Given the description of an element on the screen output the (x, y) to click on. 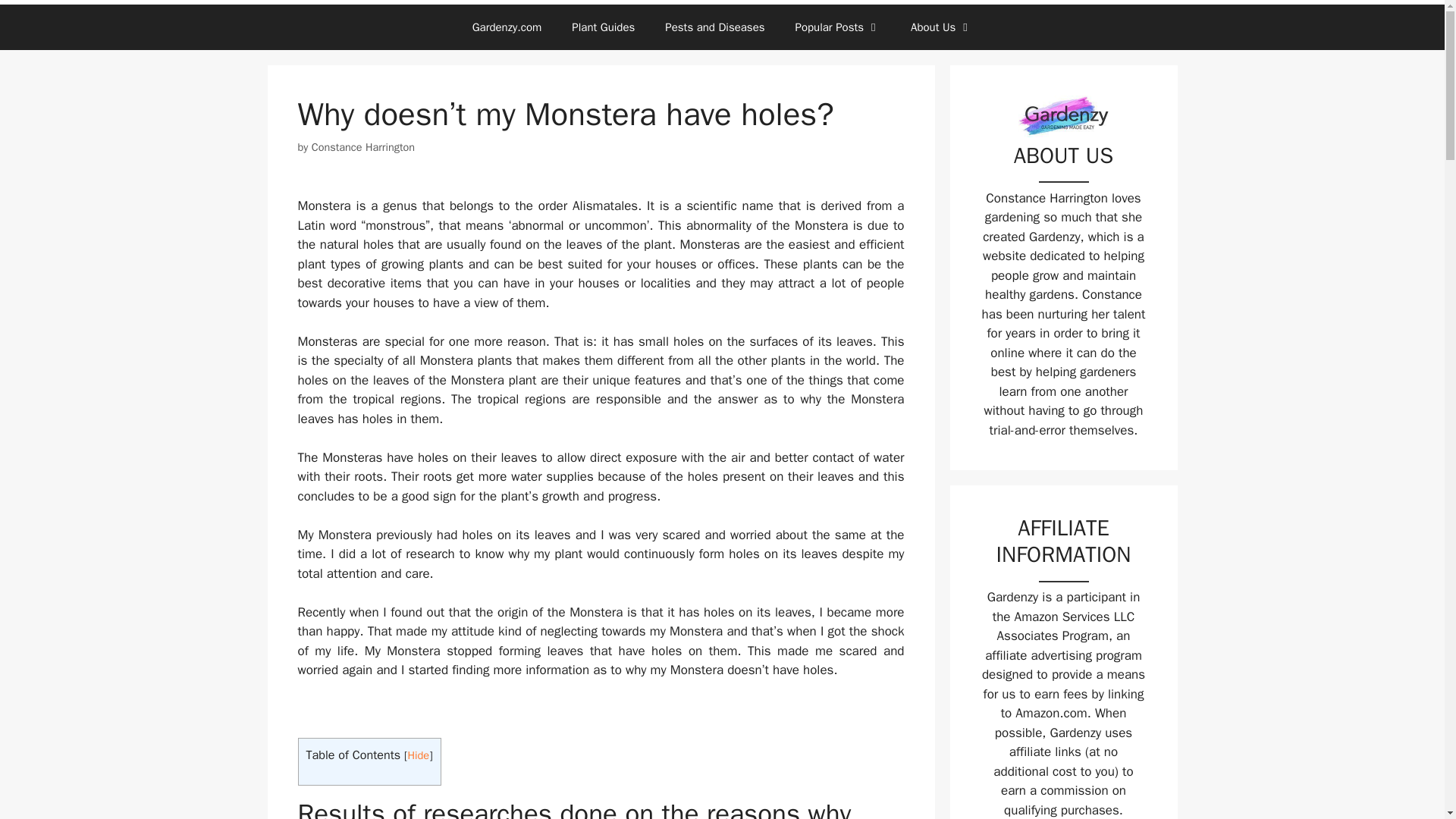
About Us (941, 26)
Constance Harrington (362, 146)
Pests and Diseases (713, 26)
Hide (418, 755)
Plant Guides (602, 26)
Gardenzy.com (507, 26)
View all posts by Constance Harrington (362, 146)
Popular Posts (837, 26)
